Given the description of an element on the screen output the (x, y) to click on. 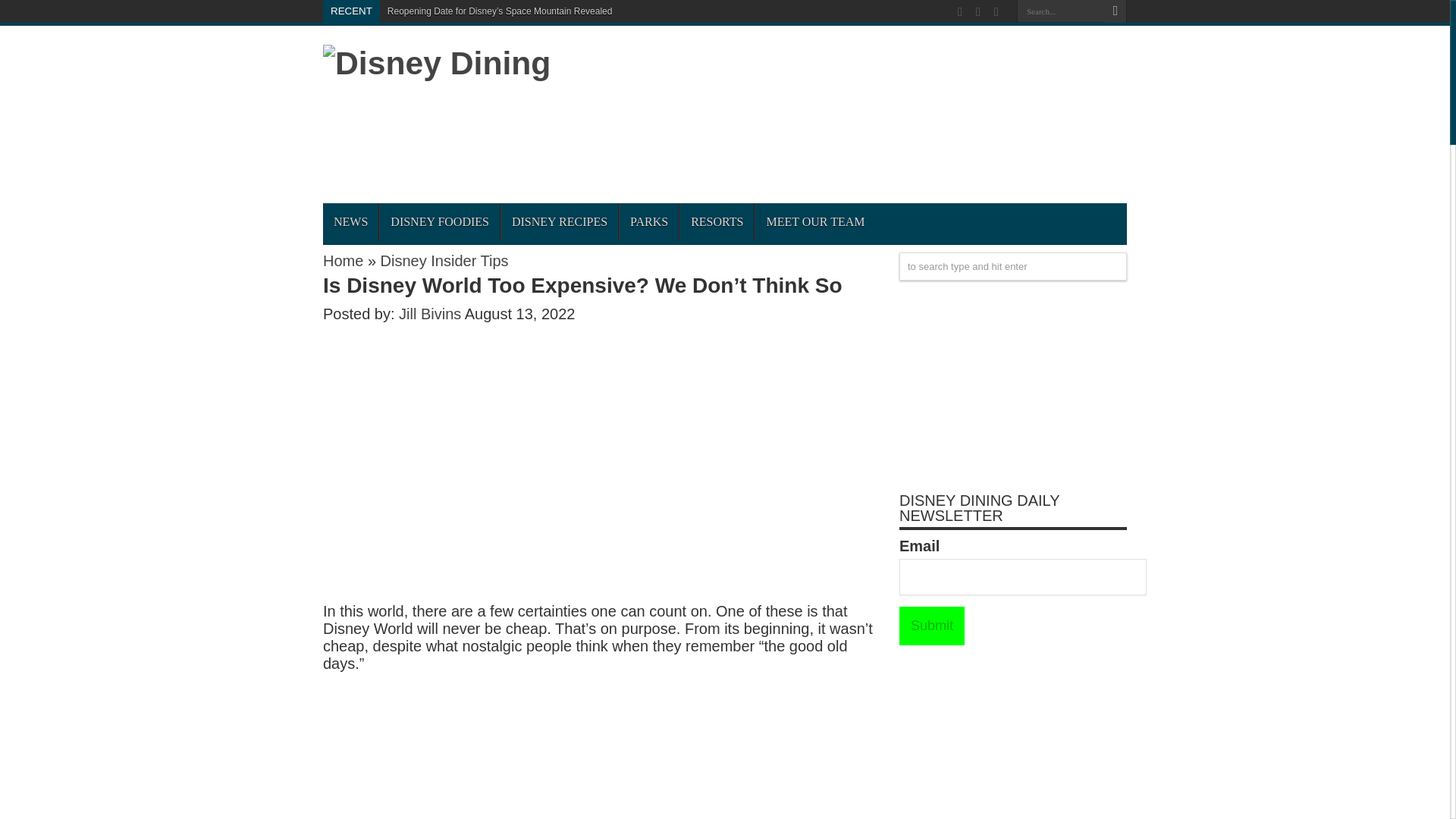
Disney Dining (436, 63)
RESORTS (716, 221)
DISNEY FOODIES (438, 221)
Rss (960, 11)
Twitter (996, 11)
Search (1114, 11)
Home (342, 260)
MEET OUR TEAM (814, 221)
Facebook (978, 11)
to search type and hit enter (1012, 266)
PARKS (648, 221)
Disney Insider Tips (444, 260)
Jill Bivins (431, 313)
NEWS (350, 221)
DISNEY RECIPES (558, 221)
